Given the description of an element on the screen output the (x, y) to click on. 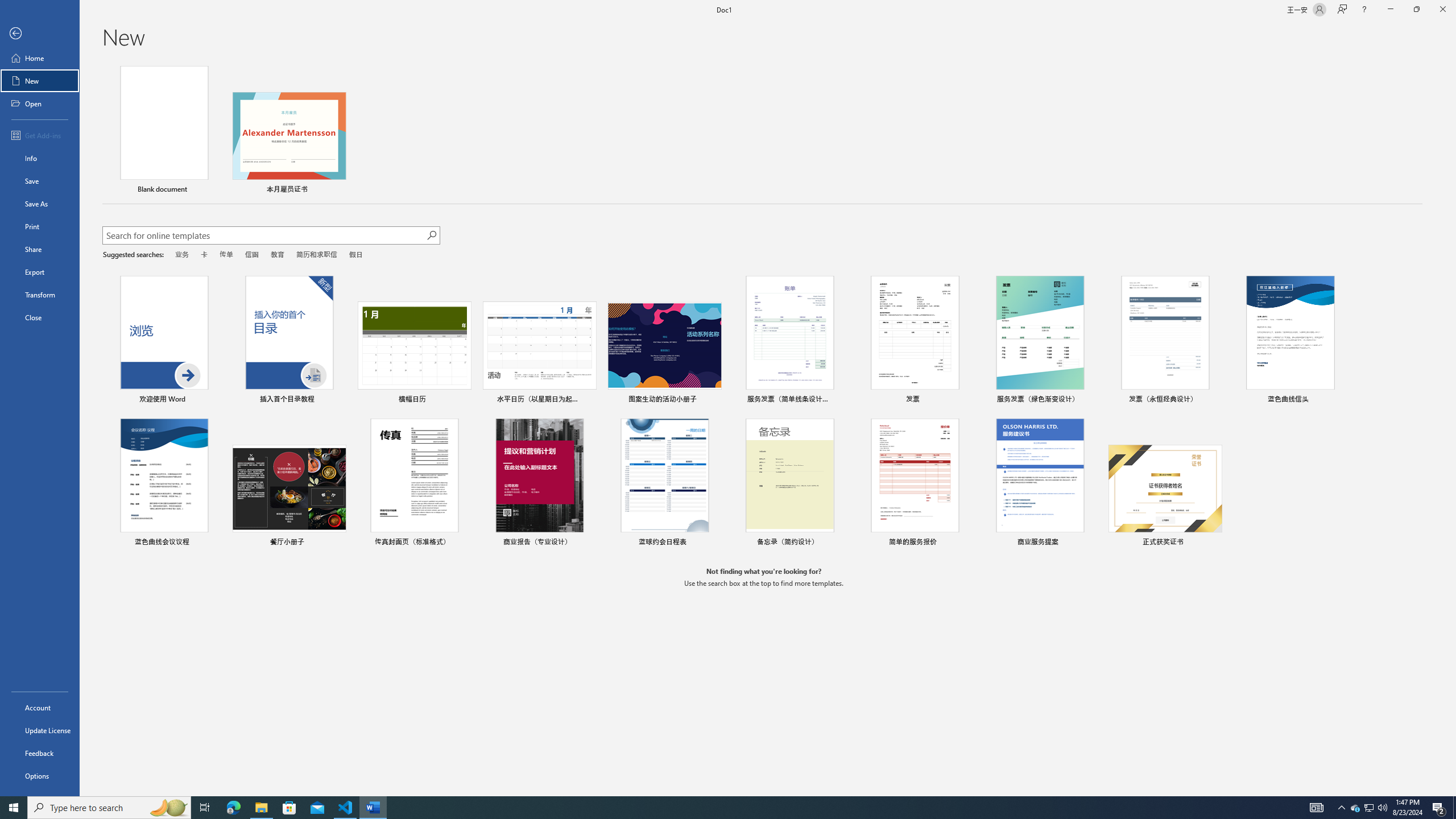
Export (40, 271)
Blank document (164, 131)
Update License (40, 730)
New (40, 80)
Transform (40, 294)
Start searching (431, 235)
Info (40, 157)
